Given the description of an element on the screen output the (x, y) to click on. 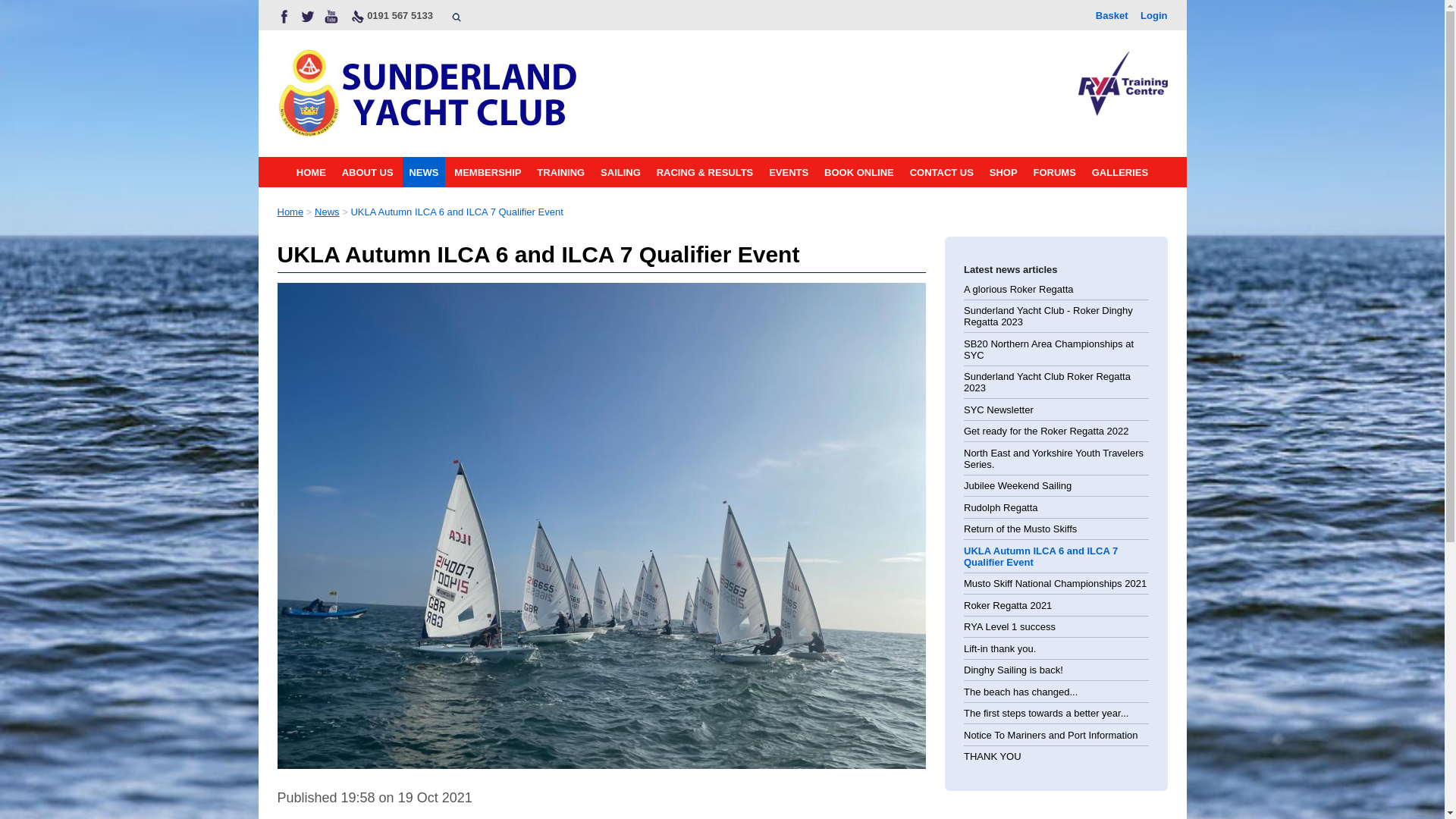
UKLA Autumn ILCA 6 and ILCA 7 Qualifier Event (1040, 556)
Rudolph Regatta (1000, 507)
TRAINING (561, 172)
GALLERIES (1119, 172)
CONTACT US (940, 172)
ABOUT US (366, 172)
EVENTS (788, 172)
Login (1153, 14)
North East and Yorkshire Youth Travelers Series. (1052, 458)
Roker Regatta 2021 (1007, 604)
Sunderland Yacht Club - Roker Dinghy Regatta 2023 (1047, 315)
SB20 Northern Area Championships at SYC (1048, 349)
SHOP (1002, 172)
SYC Newsletter (998, 409)
Basket (1112, 14)
